Given the description of an element on the screen output the (x, y) to click on. 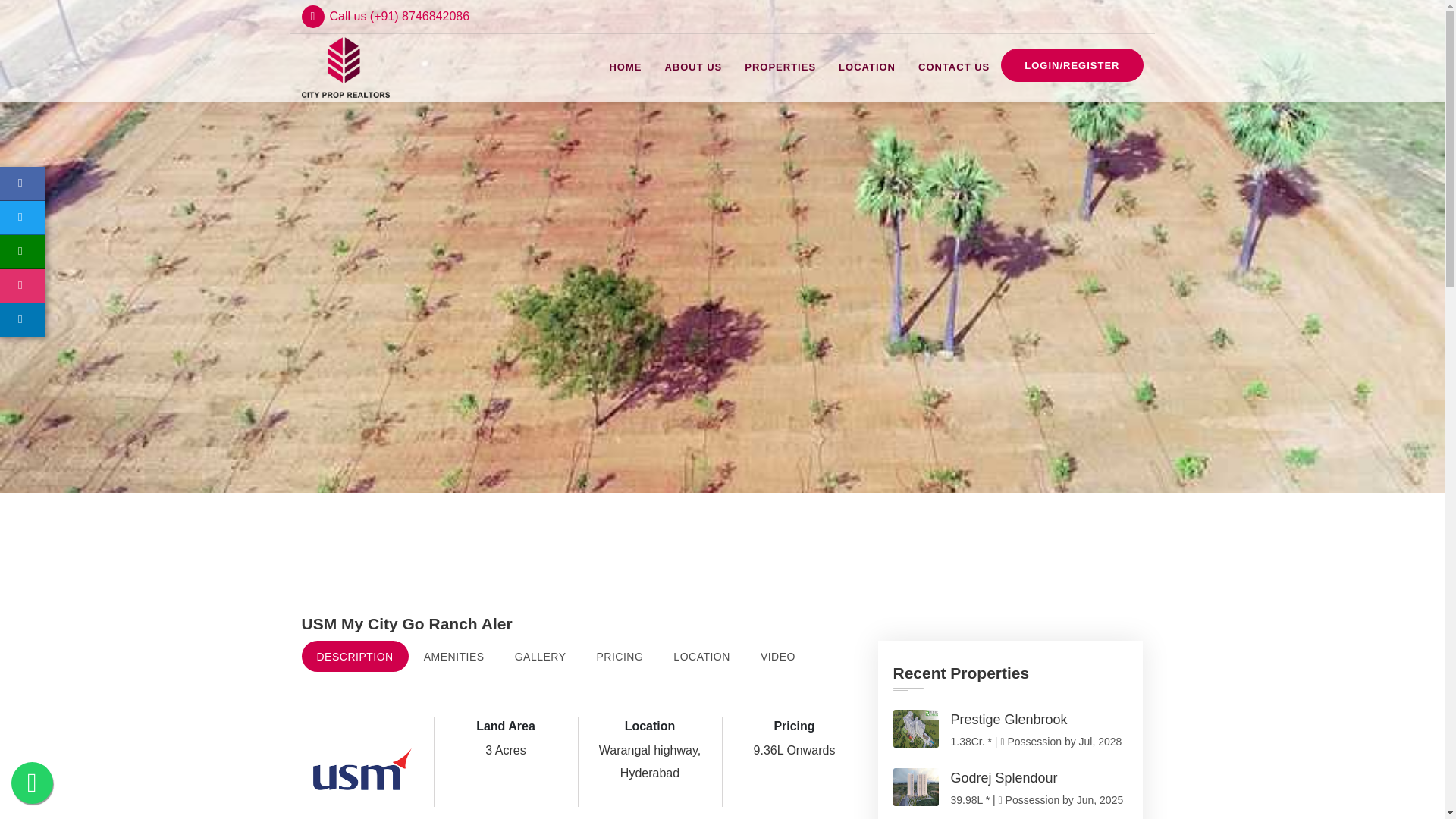
VIDEO (777, 655)
AMENITIES (454, 655)
PROPERTIES (780, 67)
GALLERY (539, 655)
CONTACT US (954, 67)
DESCRIPTION (355, 655)
PRICING (619, 655)
ABOUT US (692, 67)
LOCATION (701, 655)
LOCATION (867, 67)
